Given the description of an element on the screen output the (x, y) to click on. 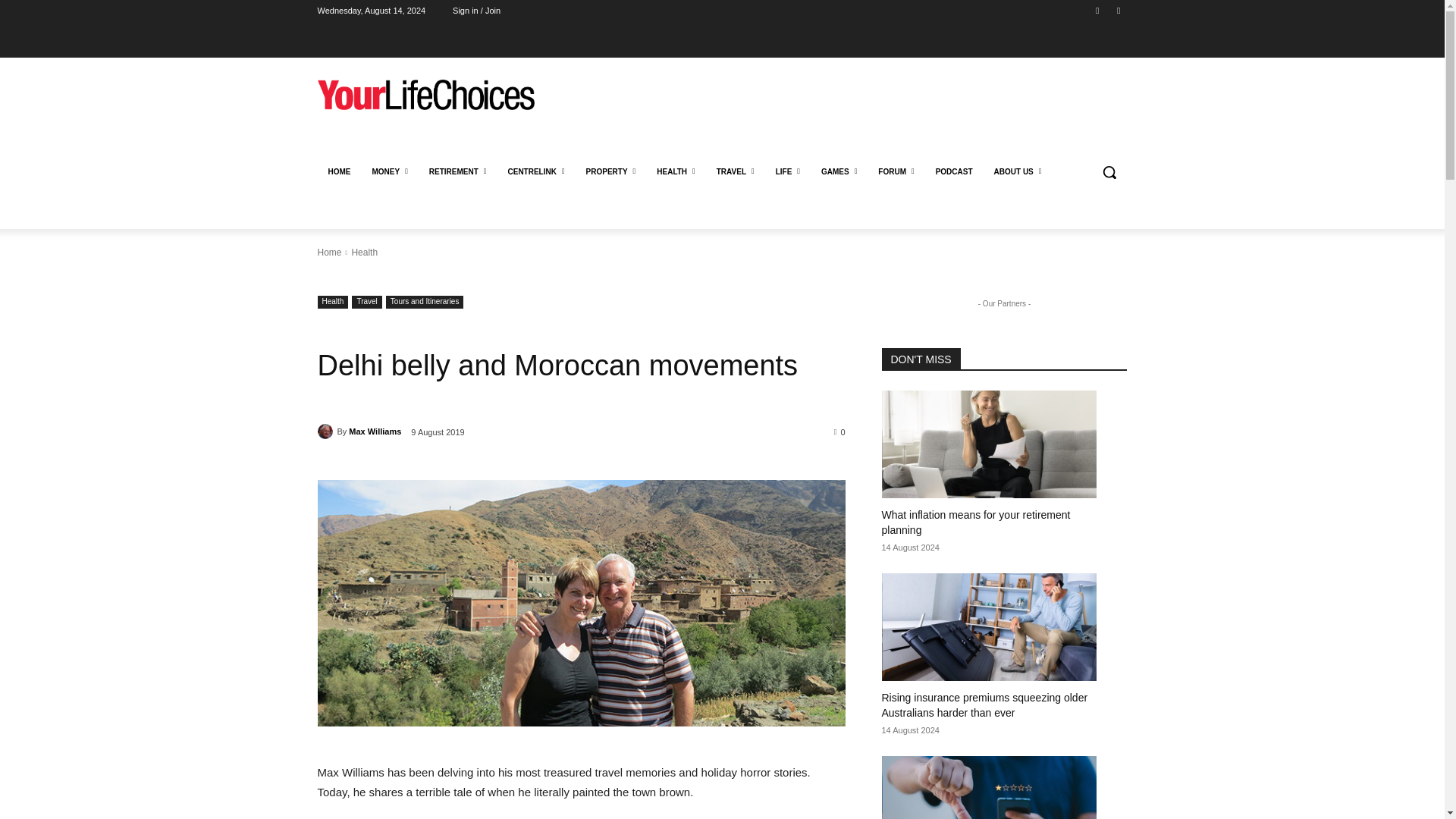
What inflation means for your retirement planning (975, 522)
What inflation means for your retirement planning (988, 443)
Facebook (1097, 9)
Twitter (1117, 9)
View all posts in Health (363, 252)
Delhi belly and Moroccan movements (580, 602)
Max Williams (326, 431)
